Given the description of an element on the screen output the (x, y) to click on. 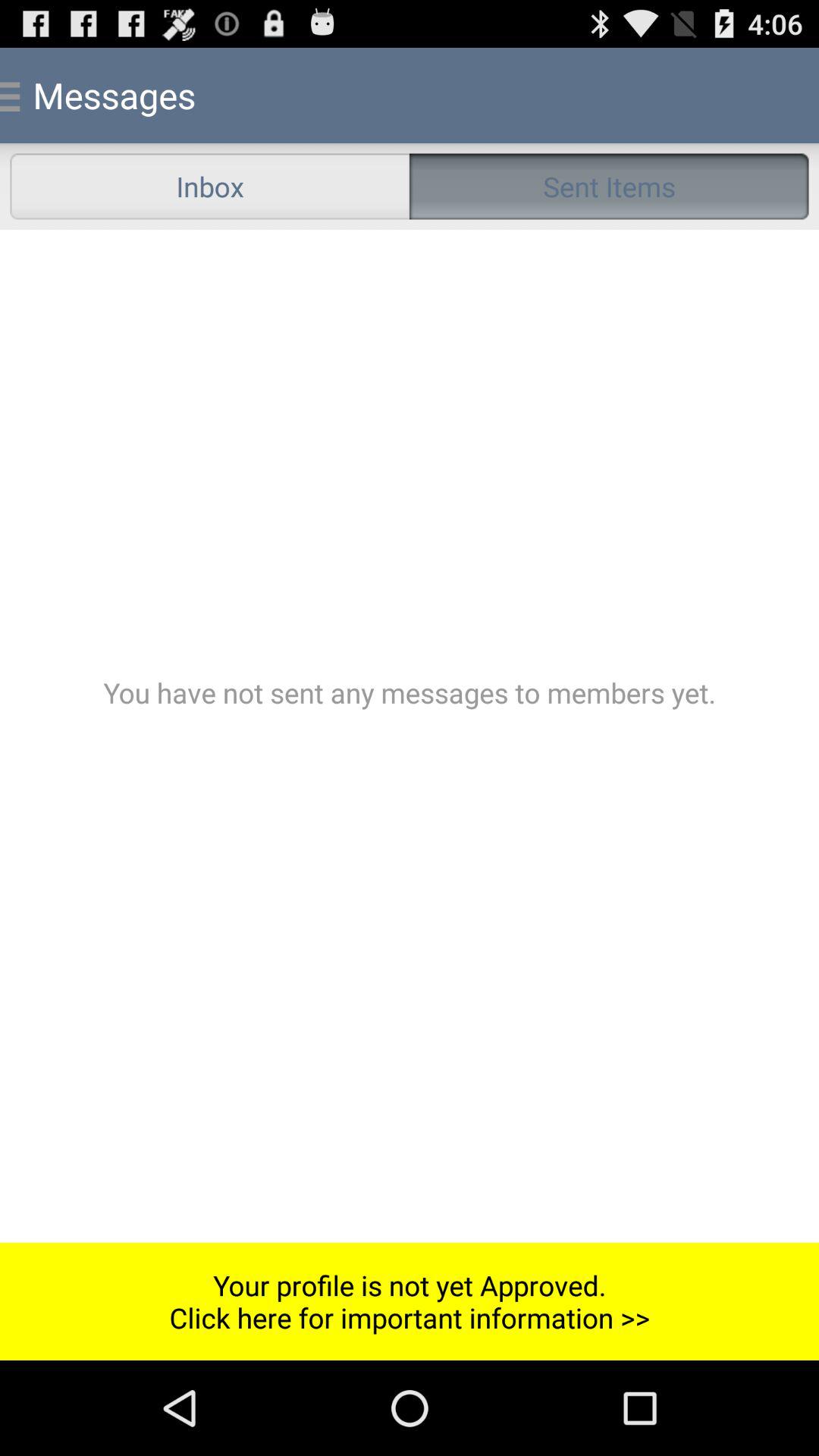
turn on the icon below the inbox radio button (409, 735)
